Given the description of an element on the screen output the (x, y) to click on. 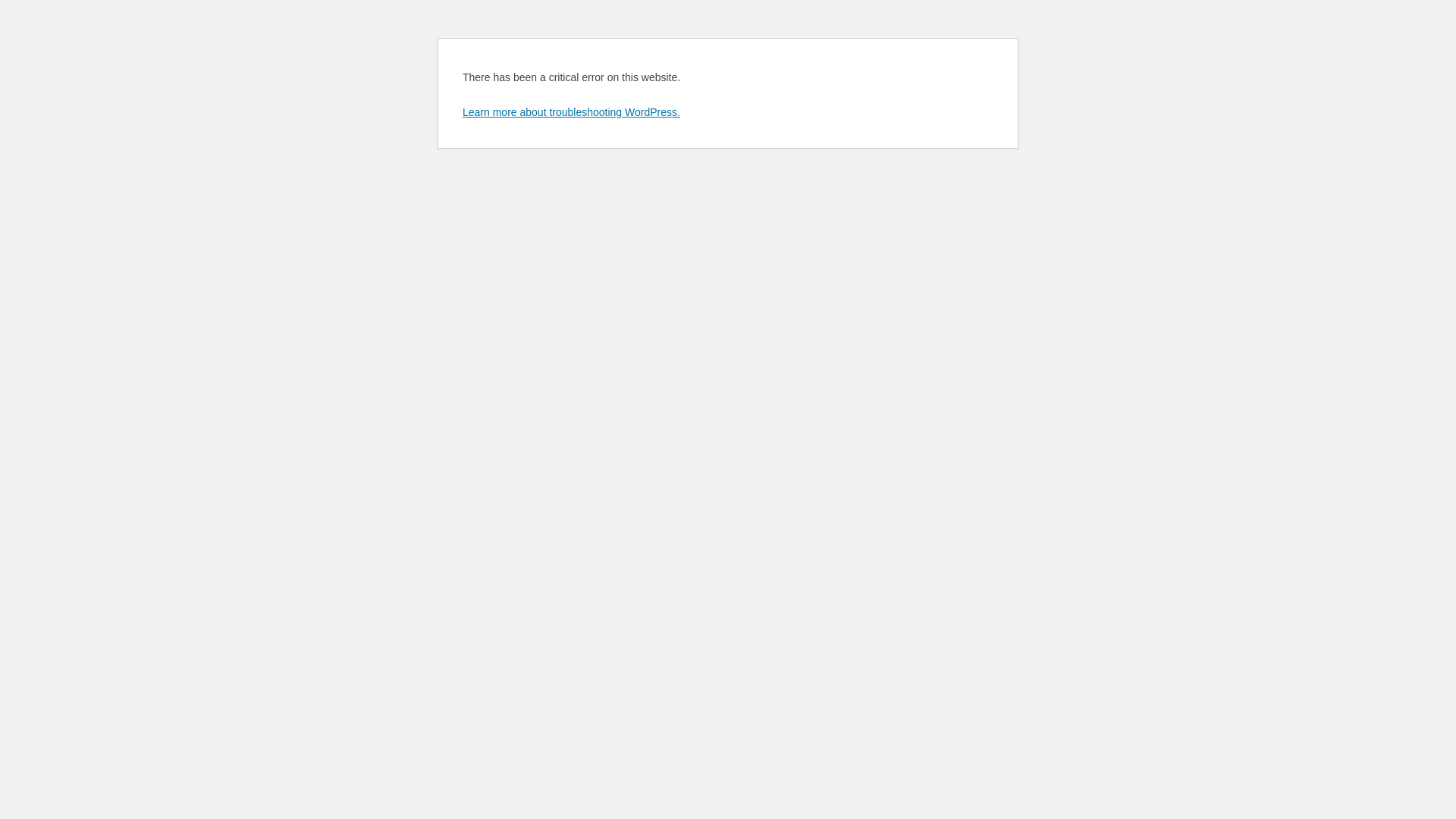
Learn more about troubleshooting WordPress. Element type: text (571, 112)
